Given the description of an element on the screen output the (x, y) to click on. 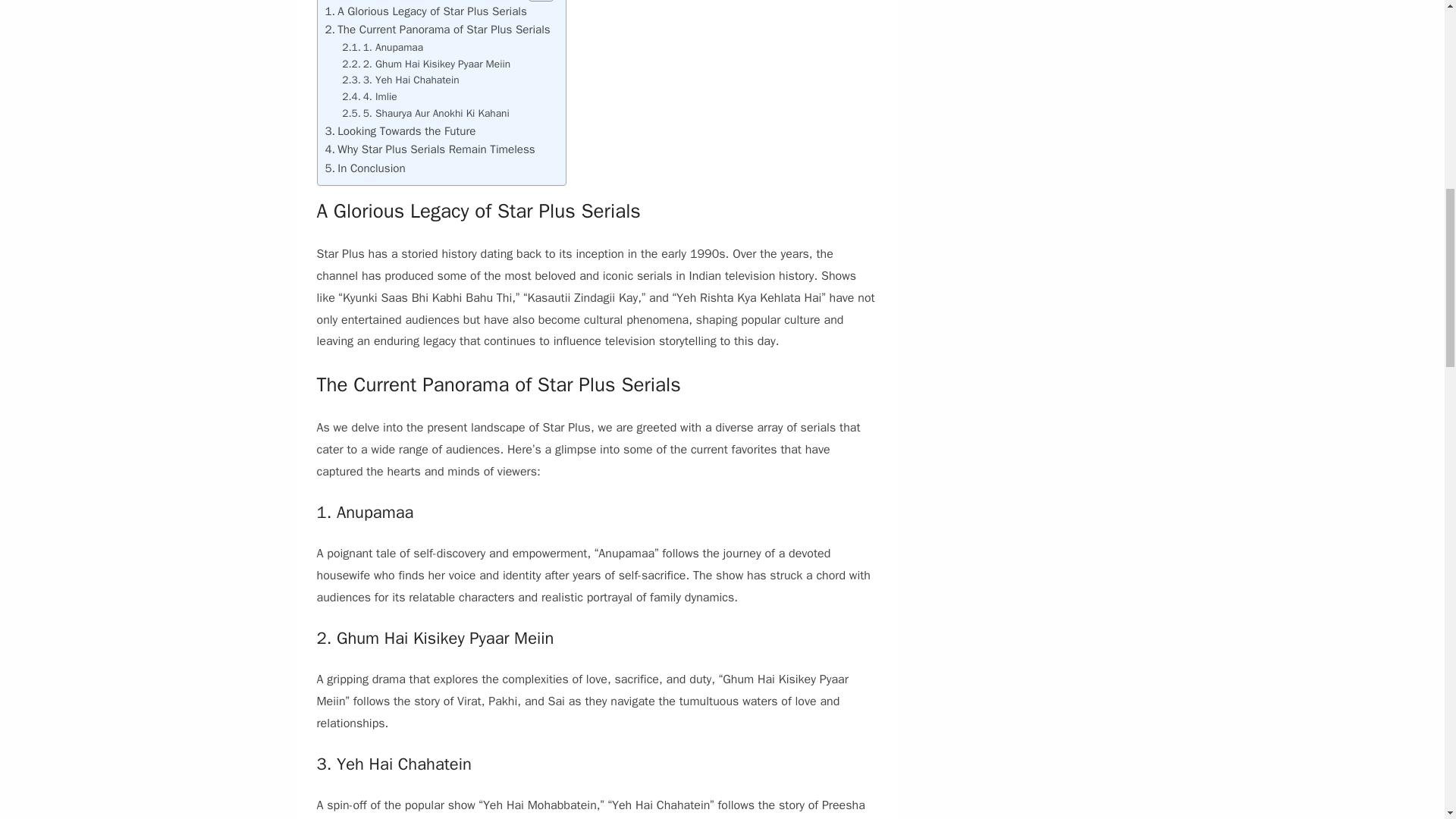
A Glorious Legacy of Star Plus Serials (424, 11)
5. Shaurya Aur Anokhi Ki Kahani (425, 113)
2. Ghum Hai Kisikey Pyaar Meiin (426, 64)
5. Shaurya Aur Anokhi Ki Kahani (425, 113)
In Conclusion (364, 167)
4. Imlie (369, 96)
The Current Panorama of Star Plus Serials (437, 29)
A Glorious Legacy of Star Plus Serials (424, 11)
3. Yeh Hai Chahatein (400, 80)
The Current Panorama of Star Plus Serials (437, 29)
Looking Towards the Future (400, 131)
1. Anupamaa (382, 47)
1. Anupamaa (382, 47)
In Conclusion (364, 167)
3. Yeh Hai Chahatein (400, 80)
